Given the description of an element on the screen output the (x, y) to click on. 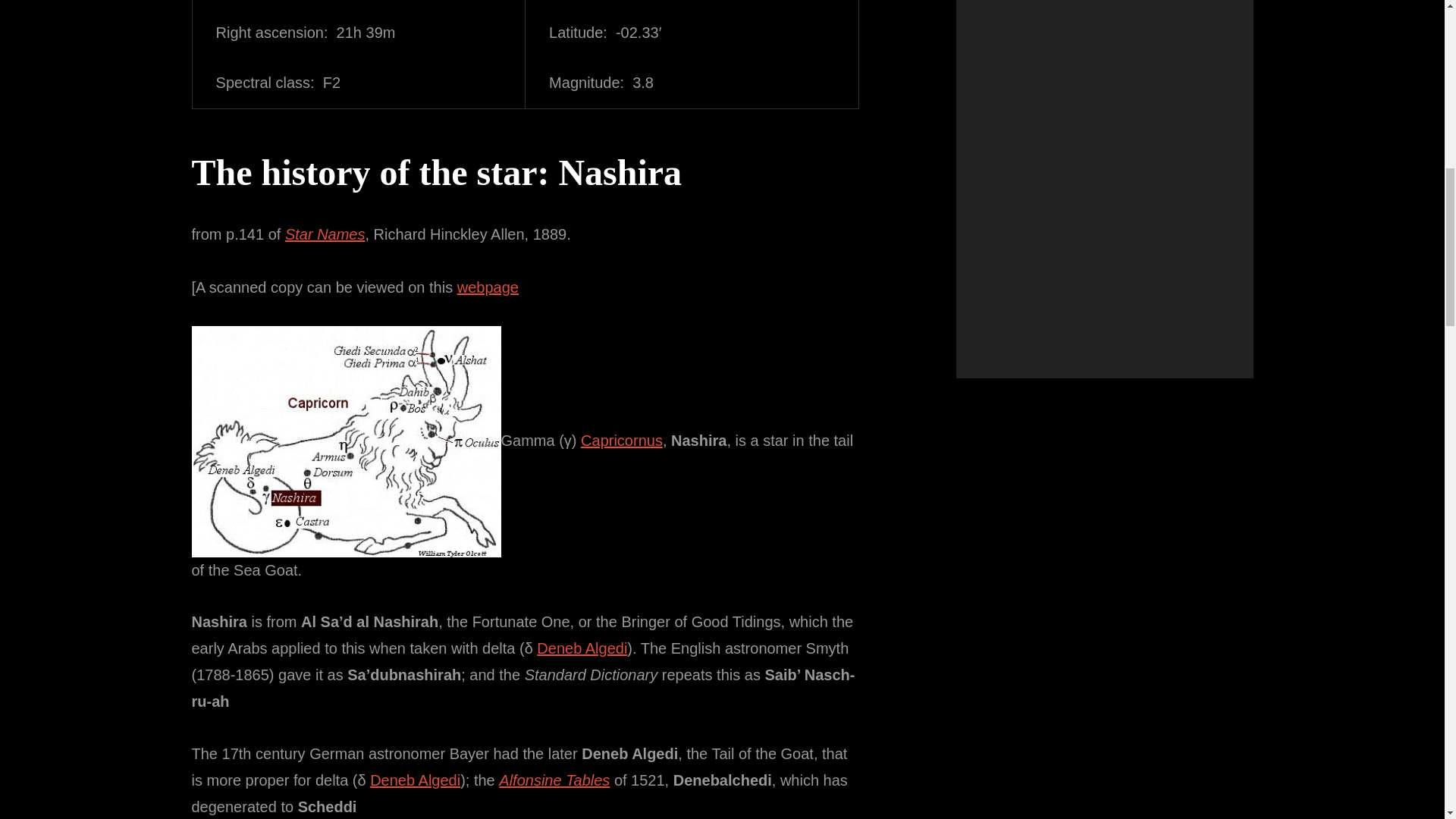
Deneb Algedi (414, 780)
Capricornus (621, 440)
Star Names (325, 234)
webpage (487, 287)
Deneb Algedi (582, 647)
Alfonsine Tables (554, 780)
